Given the description of an element on the screen output the (x, y) to click on. 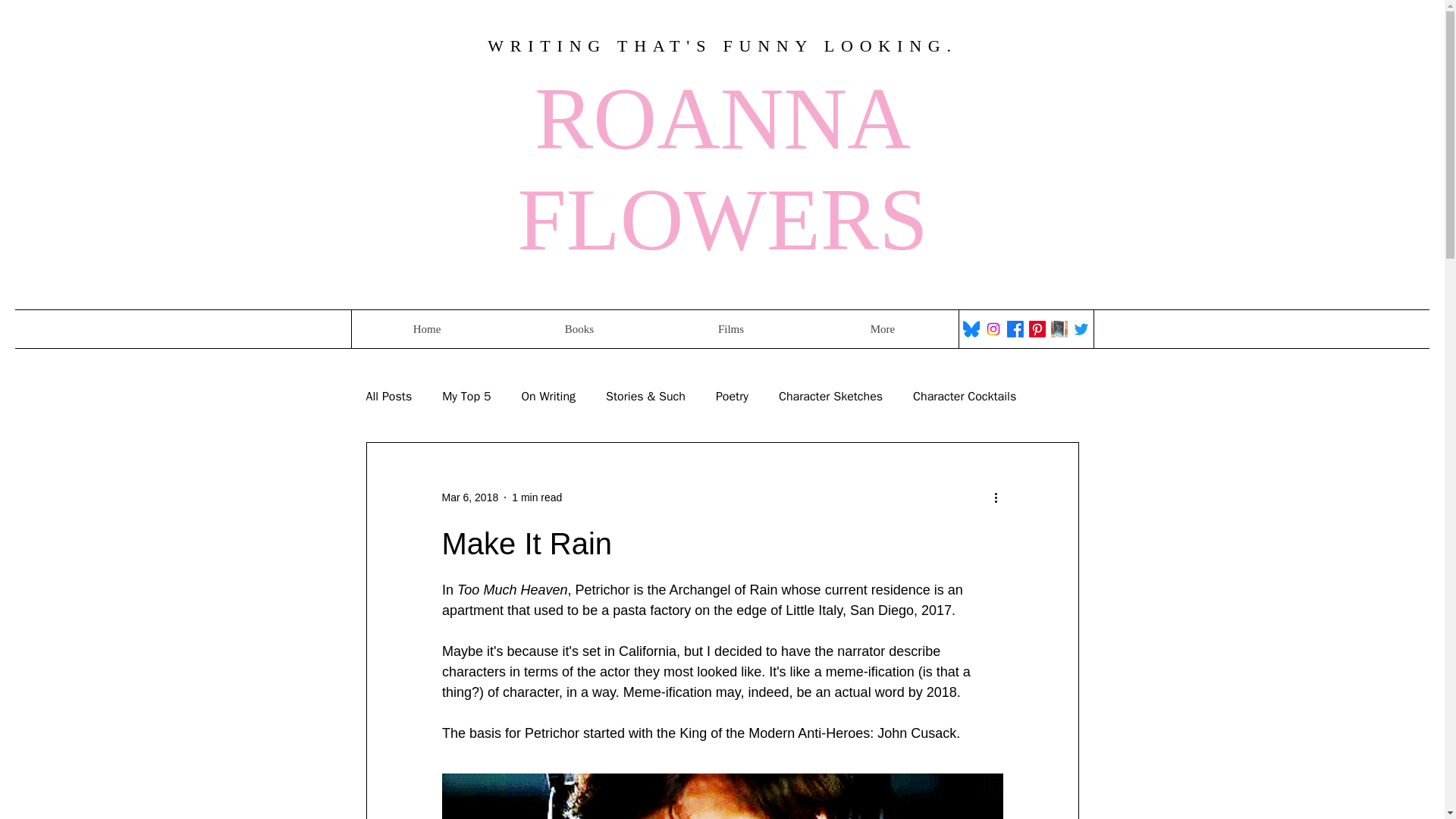
1 min read (537, 497)
Poetry (732, 396)
Home (426, 329)
On Writing (548, 396)
All Posts (388, 396)
Mar 6, 2018 (469, 497)
My Top 5 (466, 396)
Character Sketches (830, 396)
Films (730, 329)
Character Cocktails (964, 396)
Books (579, 329)
